Given the description of an element on the screen output the (x, y) to click on. 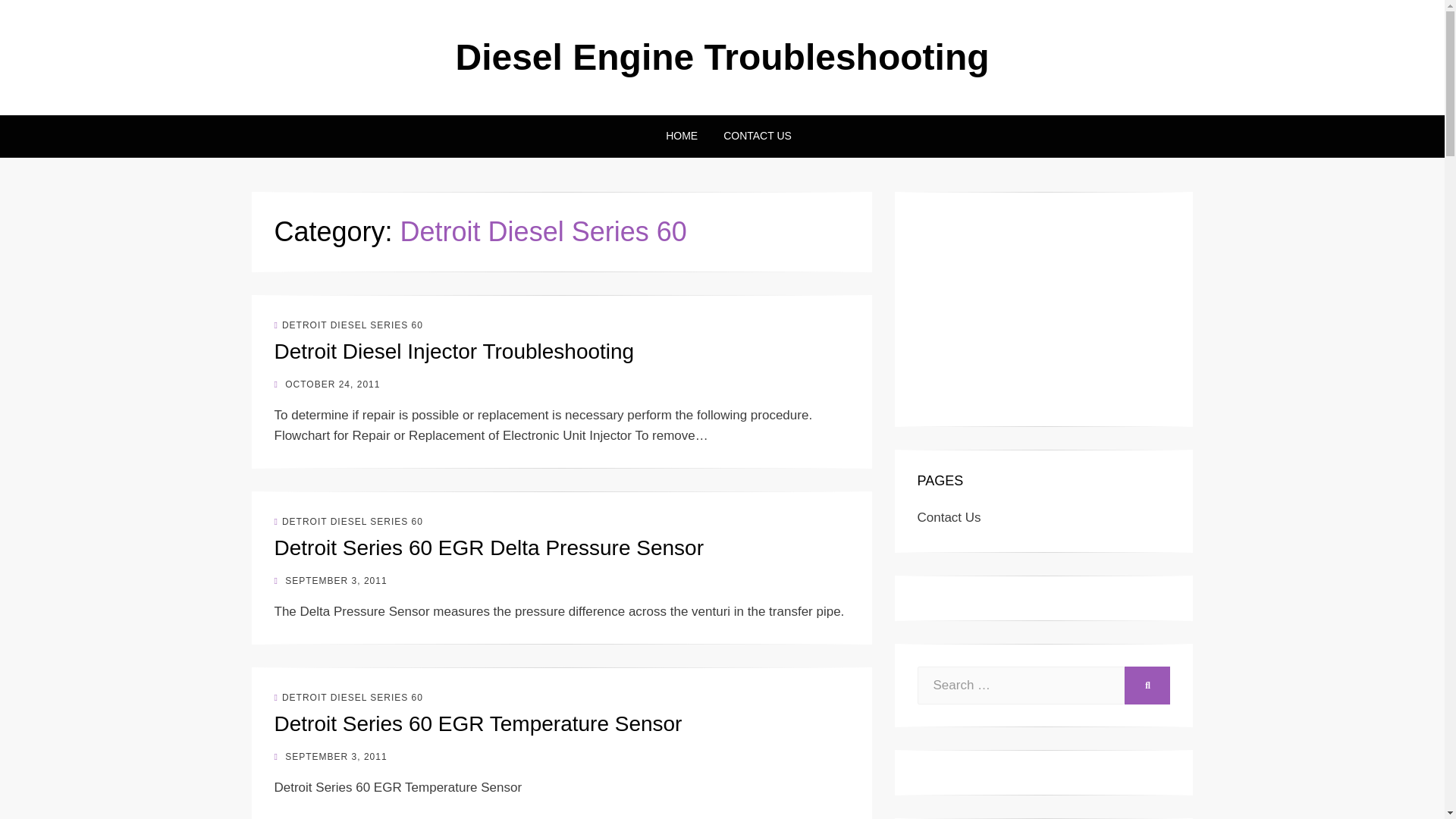
Detroit Diesel Series 60 (349, 325)
HOME (681, 135)
OCTOBER 24, 2011 (327, 384)
DETROIT DIESEL SERIES 60 (349, 697)
DETROIT DIESEL SERIES 60 (349, 325)
CONTACT US (751, 135)
Diesel Engine Troubleshooting (721, 56)
Diesel Engine Troubleshooting (721, 56)
SEARCH (1147, 685)
Search for: (1021, 685)
